Given the description of an element on the screen output the (x, y) to click on. 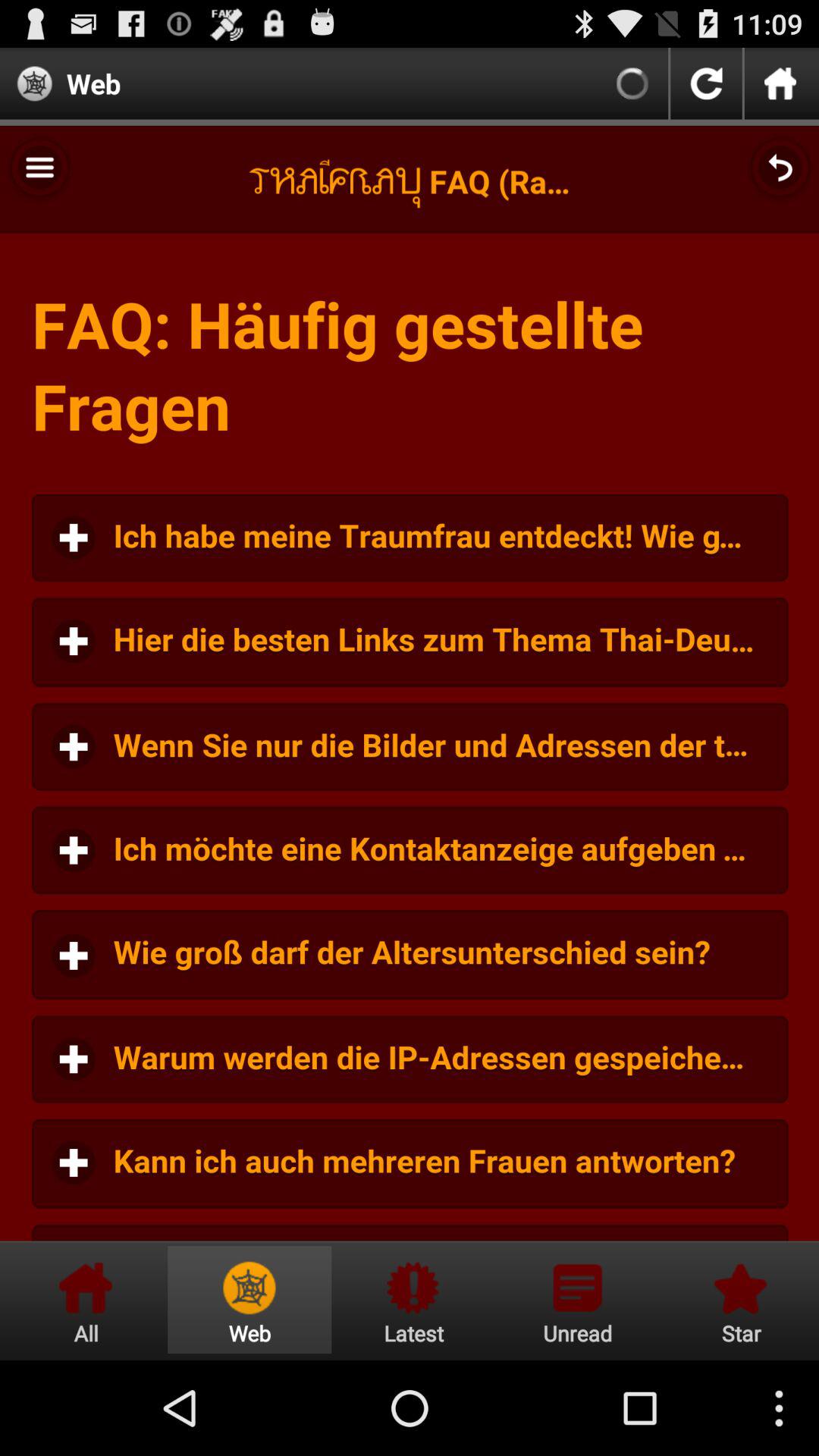
go to previous (706, 83)
